Given the description of an element on the screen output the (x, y) to click on. 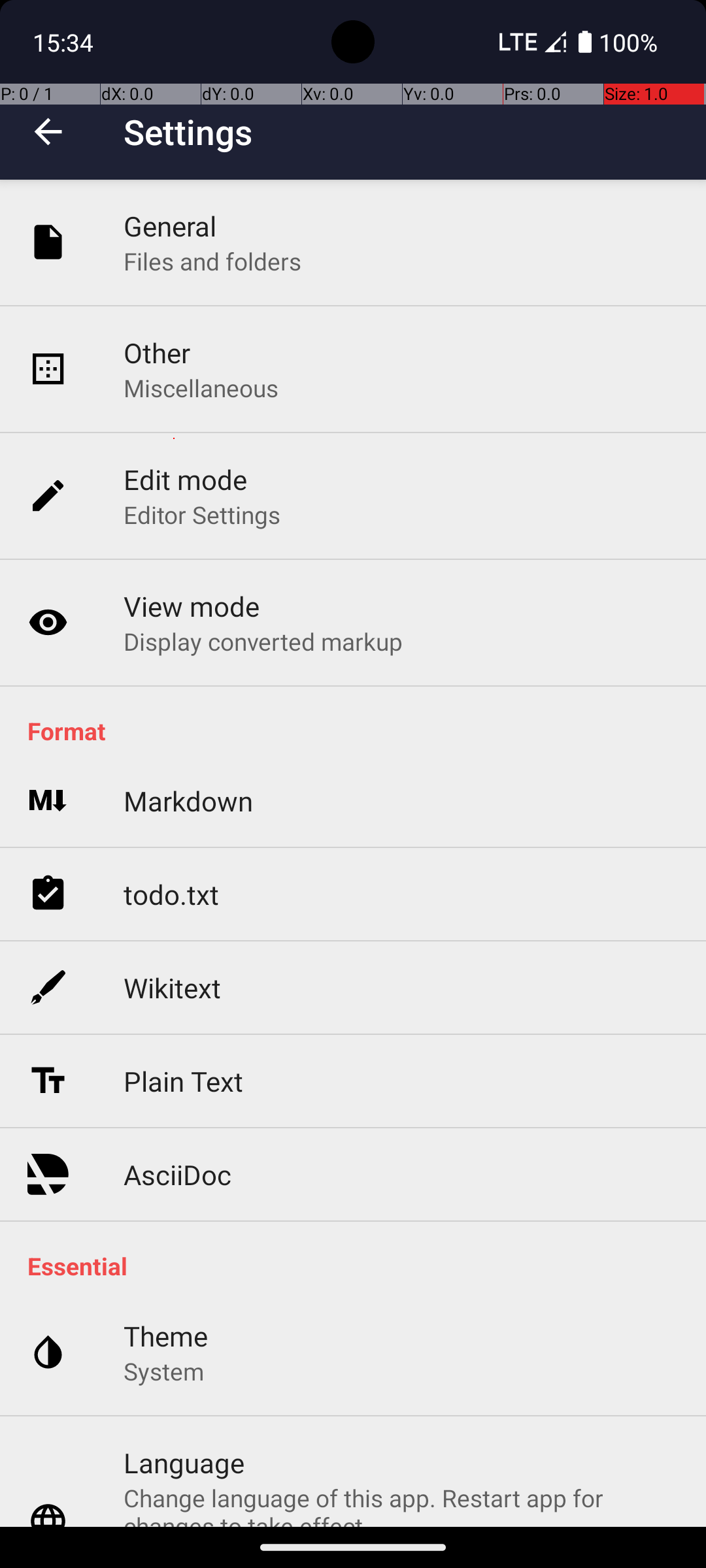
Essential Element type: android.widget.TextView (359, 1265)
Files and folders Element type: android.widget.TextView (212, 260)
Miscellaneous Element type: android.widget.TextView (200, 387)
Editor Settings Element type: android.widget.TextView (202, 514)
Display converted markup Element type: android.widget.TextView (263, 640)
Change language of this app. Restart app for changes to take effect

English (English, United States) Element type: android.widget.TextView (400, 1503)
